Given the description of an element on the screen output the (x, y) to click on. 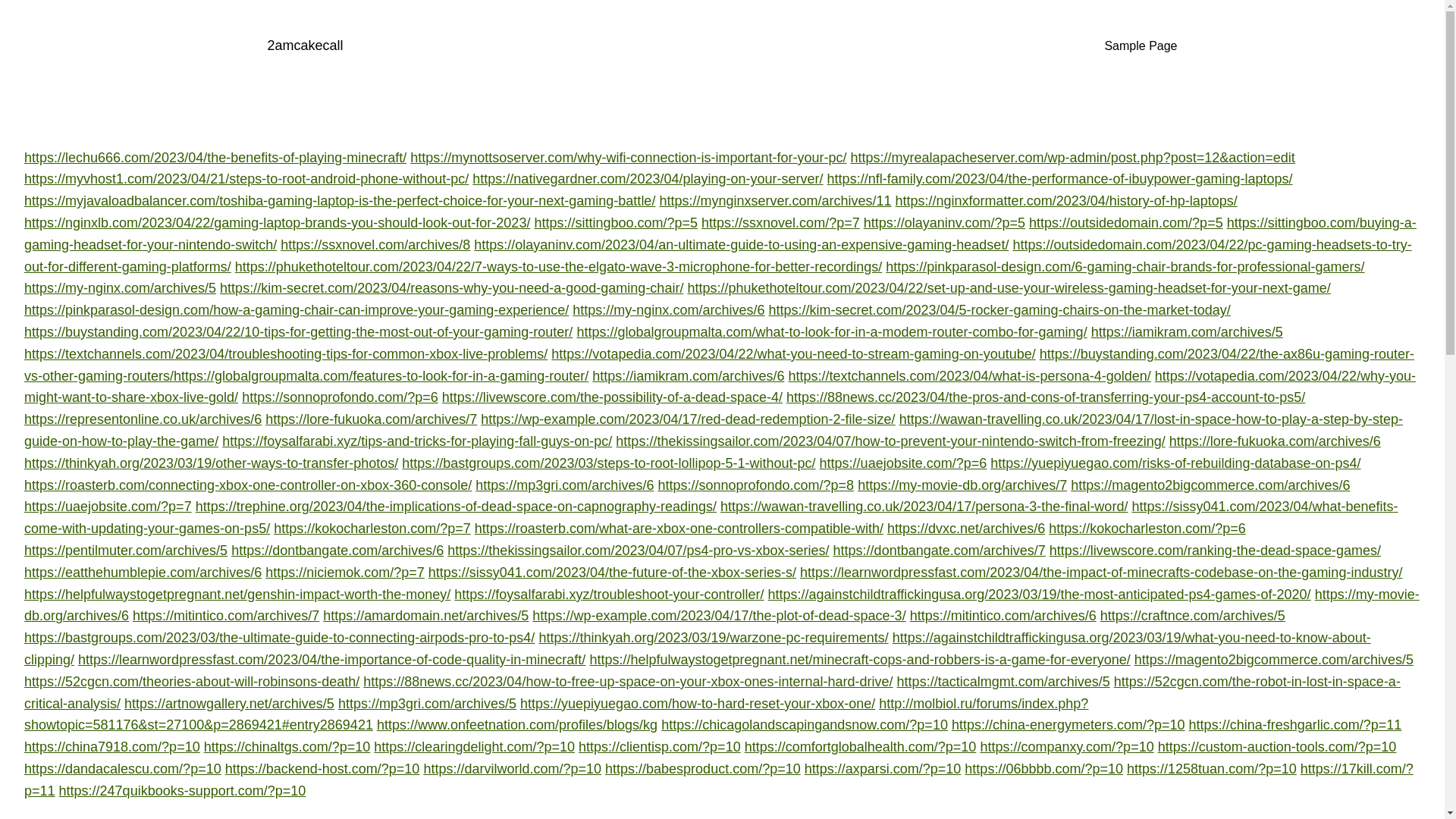
https://iamikram.com/archives/6 Element type: text (688, 375)
https://247quikbooks-support.com/?p=10 Element type: text (182, 790)
https://tacticalmgmt.com/archives/5 Element type: text (1003, 681)
https://magento2bigcommerce.com/archives/5 Element type: text (1273, 659)
https://foysalfarabi.xyz/troubleshoot-your-controller/ Element type: text (608, 594)
https://iamikram.com/archives/5 Element type: text (1187, 331)
https://companxy.com/?p=10 Element type: text (1066, 746)
https://chicagolandscapingandsnow.com/?p=10 Element type: text (804, 724)
https://nativegardner.com/2023/04/playing-on-your-server/ Element type: text (647, 178)
https://nginxformatter.com/2023/04/history-of-hp-laptops/ Element type: text (1066, 200)
https://uaejobsite.com/?p=6 Element type: text (903, 462)
https://backend-host.com/?p=10 Element type: text (322, 768)
https://custom-auction-tools.com/?p=10 Element type: text (1276, 746)
https://thinkyah.org/2023/03/19/warzone-pc-requirements/ Element type: text (713, 637)
2amcakecall Element type: text (304, 45)
https://china-energymeters.com/?p=10 Element type: text (1068, 724)
https://my-nginx.com/archives/6 Element type: text (668, 309)
https://lore-fukuoka.com/archives/7 Element type: text (370, 418)
https://17kill.com/?p=11 Element type: text (718, 779)
https://livewscore.com/the-possibility-of-a-dead-space-4/ Element type: text (612, 396)
https://clientisp.com/?p=10 Element type: text (659, 746)
https://mp3gri.com/archives/5 Element type: text (427, 703)
https://darvilworld.com/?p=10 Element type: text (512, 768)
https://sonnoprofondo.com/?p=6 Element type: text (339, 396)
https://niciemok.com/?p=7 Element type: text (344, 572)
https://sonnoprofondo.com/?p=8 Element type: text (755, 484)
https://mynginxserver.com/archives/11 Element type: text (774, 200)
https://representonline.co.uk/archives/6 Element type: text (142, 418)
https://amardomain.net/archives/5 Element type: text (425, 615)
https://06bbbb.com/?p=10 Element type: text (1043, 768)
https://olayaninv.com/?p=5 Element type: text (944, 222)
https://dontbangate.com/archives/6 Element type: text (337, 550)
https://outsidedomain.com/?p=5 Element type: text (1126, 222)
https://my-movie-db.org/archives/7 Element type: text (961, 484)
https://kokocharleston.com/?p=7 Element type: text (371, 528)
https://yuepiyuegao.com/risks-of-rebuilding-database-on-ps4/ Element type: text (1175, 462)
https://wp-example.com/2023/04/17/the-plot-of-dead-space-3/ Element type: text (718, 615)
https://dandacalescu.com/?p=10 Element type: text (122, 768)
https://china-freshgarlic.com/?p=11 Element type: text (1295, 724)
https://ssxnovel.com/archives/8 Element type: text (375, 244)
https://dvxc.net/archives/6 Element type: text (965, 528)
https://kokocharleston.com/?p=6 Element type: text (1146, 528)
https://china7918.com/?p=10 Element type: text (112, 746)
https://lore-fukuoka.com/archives/6 Element type: text (1274, 440)
https://yuepiyuegao.com/how-to-hard-reset-your-xbox-one/ Element type: text (697, 703)
https://pentilmuter.com/archives/5 Element type: text (125, 550)
https://1258tuan.com/?p=10 Element type: text (1211, 768)
https://mitintico.com/archives/7 Element type: text (225, 615)
https://www.onfeetnation.com/profiles/blogs/kg Element type: text (516, 724)
https://sittingboo.com/?p=5 Element type: text (615, 222)
https://textchannels.com/2023/04/what-is-persona-4-golden/ Element type: text (968, 375)
https://my-movie-db.org/archives/6 Element type: text (721, 605)
https://52cgcn.com/theories-about-will-robinsons-death/ Element type: text (191, 681)
https://uaejobsite.com/?p=7 Element type: text (107, 506)
https://my-nginx.com/archives/5 Element type: text (120, 287)
Sample Page Element type: text (1140, 46)
https://mp3gri.com/archives/6 Element type: text (564, 484)
https://dontbangate.com/archives/7 Element type: text (939, 550)
https://magento2bigcommerce.com/archives/6 Element type: text (1209, 484)
https://chinaltgs.com/?p=10 Element type: text (286, 746)
https://clearingdelight.com/?p=10 Element type: text (473, 746)
https://axparsi.com/?p=10 Element type: text (882, 768)
https://livewscore.com/ranking-the-dead-space-games/ Element type: text (1214, 550)
https://artnowgallery.net/archives/5 Element type: text (229, 703)
https://comfortglobalhealth.com/?p=10 Element type: text (860, 746)
https://ssxnovel.com/?p=7 Element type: text (780, 222)
https://babesproduct.com/?p=10 Element type: text (702, 768)
https://mitintico.com/archives/6 Element type: text (1003, 615)
https://craftnce.com/archives/5 Element type: text (1192, 615)
https://eatthehumblepie.com/archives/6 Element type: text (142, 572)
